Given the description of an element on the screen output the (x, y) to click on. 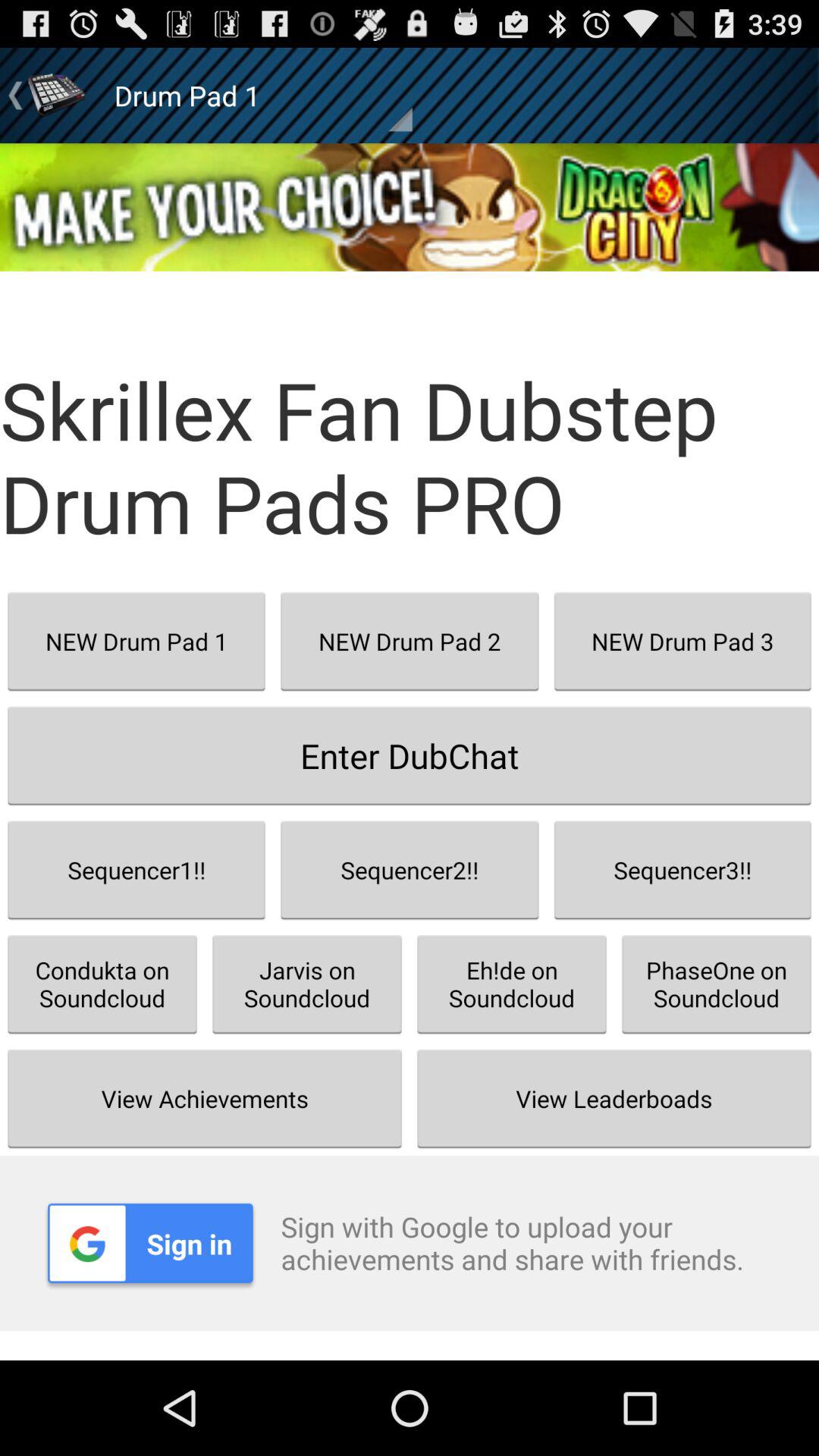
press the icon above sign with google app (614, 1098)
